Given the description of an element on the screen output the (x, y) to click on. 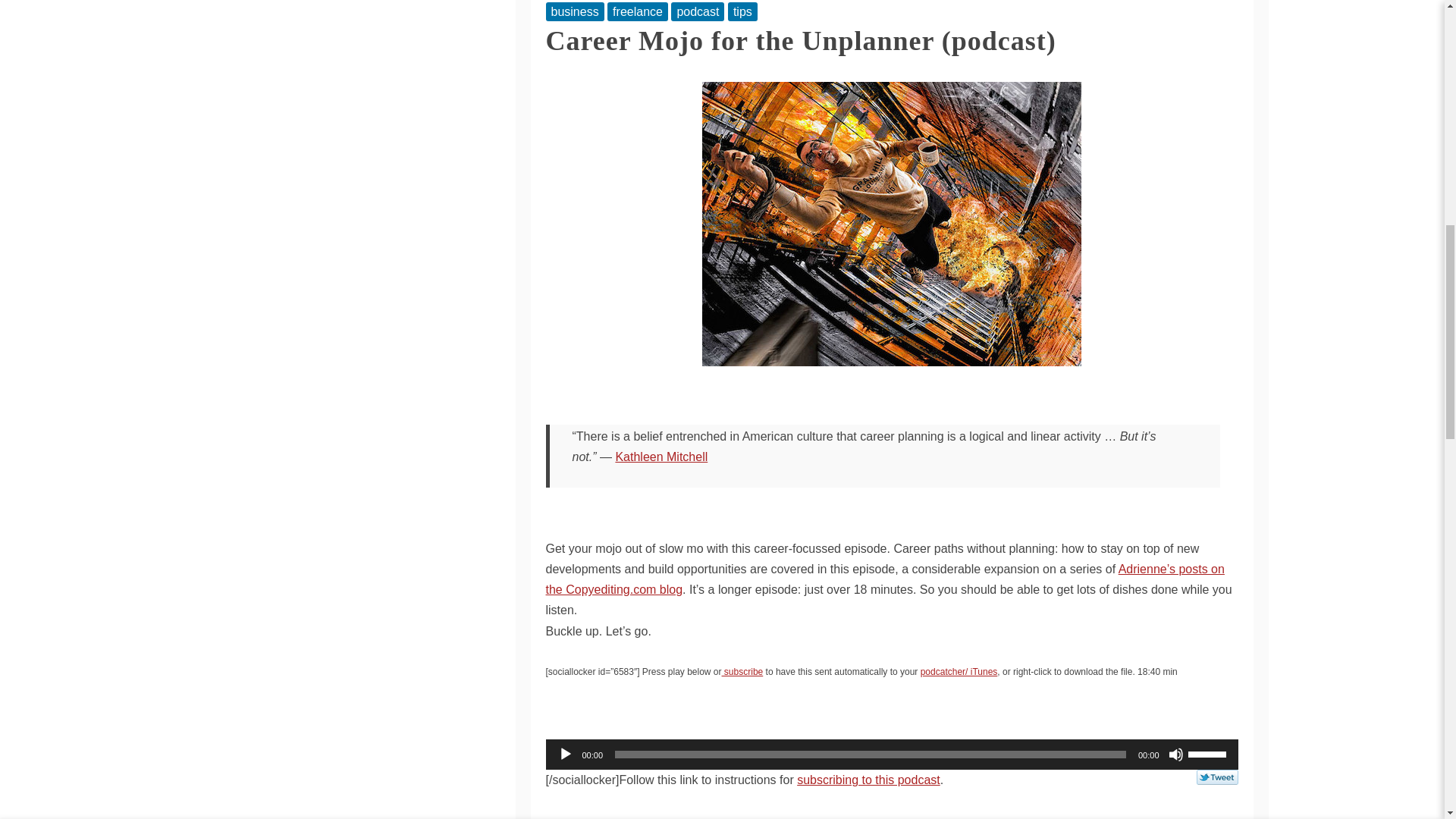
 subscribe (742, 671)
Kathleen Mitchell (660, 456)
freelance (637, 11)
tips (742, 11)
subscribing to this podcast (868, 779)
Play (565, 754)
business (575, 11)
podcast (697, 11)
Mute (1174, 754)
